Given the description of an element on the screen output the (x, y) to click on. 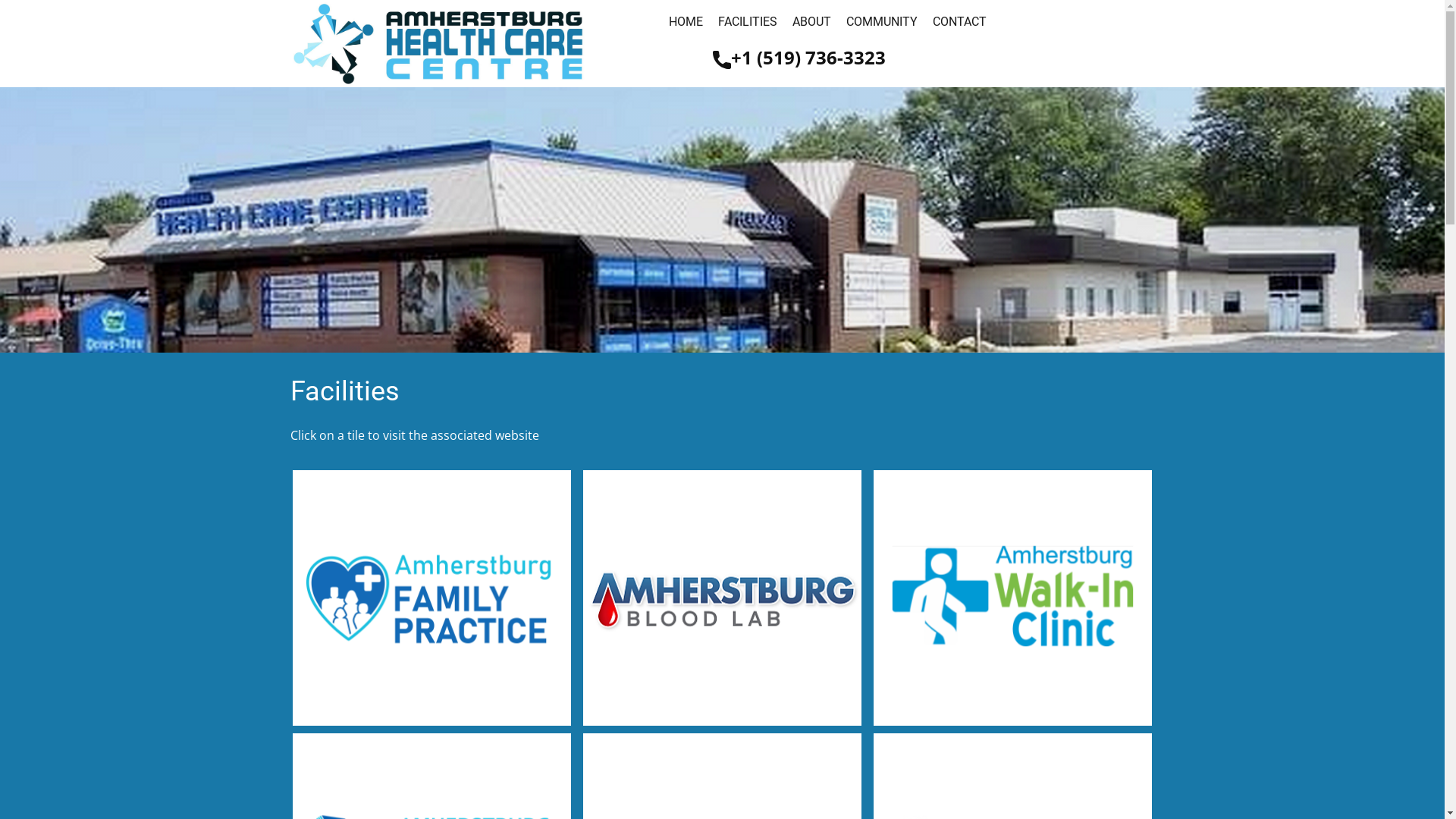
Amherstburg Health Care Centre Element type: hover (438, 43)
FACILITIES Element type: text (746, 22)
CONTACT Element type: text (959, 22)
COMMUNITY Element type: text (881, 22)
HOME Element type: text (685, 22)
+1 (519) 736-3323 Element type: text (798, 58)
ABOUT Element type: text (810, 22)
